Given the description of an element on the screen output the (x, y) to click on. 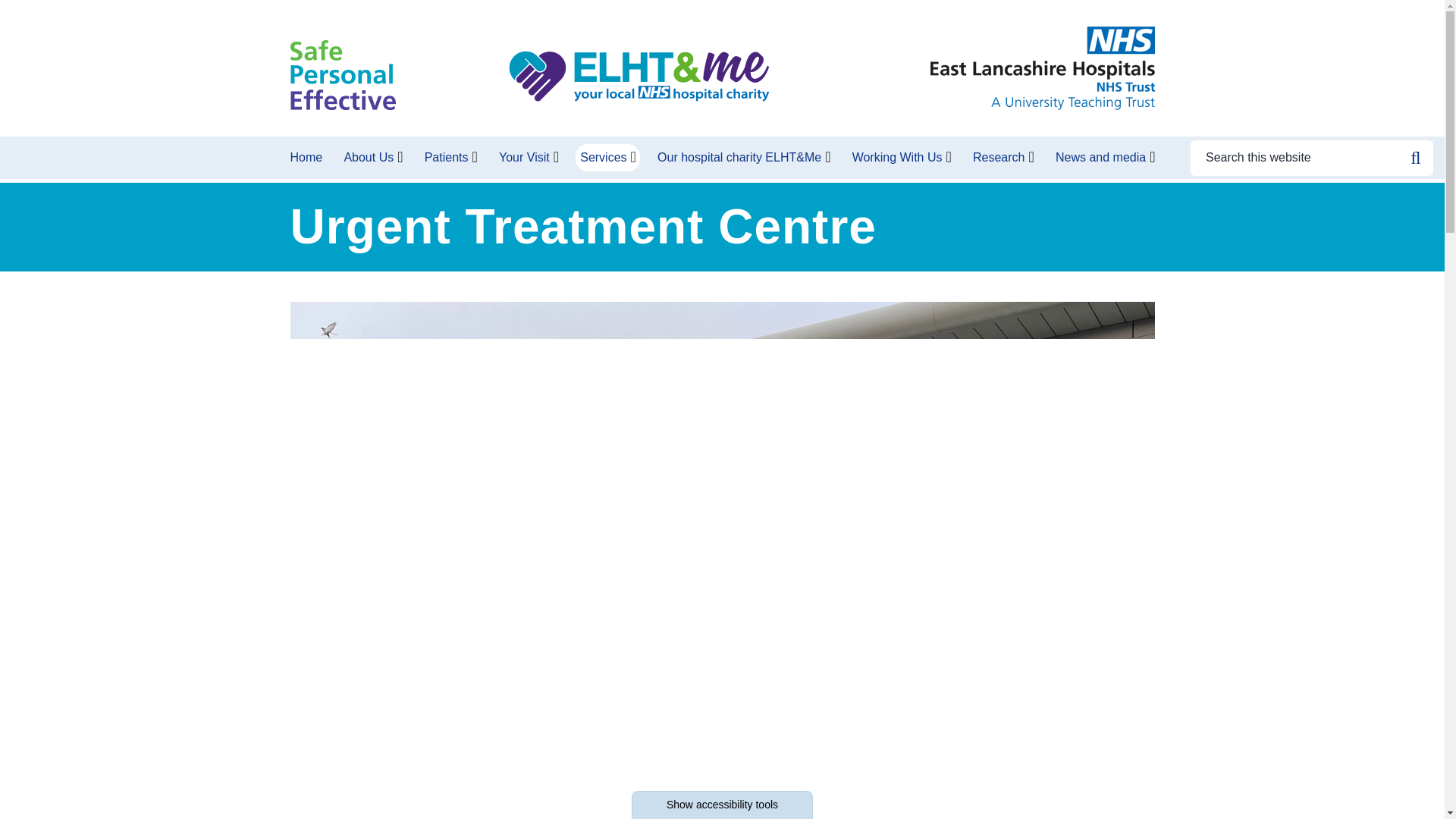
About Us (368, 157)
Donate to support your hospital charity  (638, 77)
Home (307, 157)
